Given the description of an element on the screen output the (x, y) to click on. 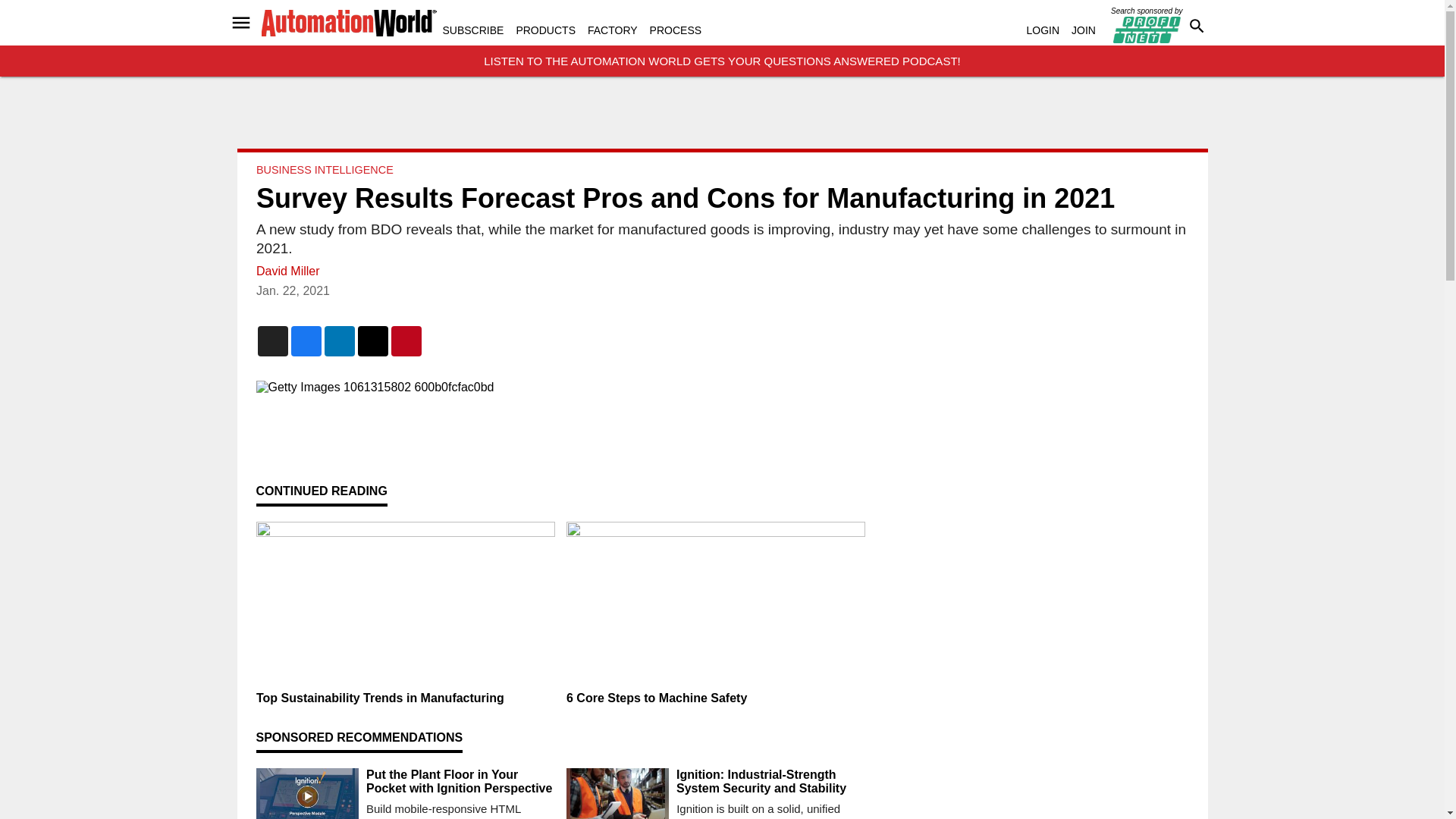
BUSINESS INTELLIGENCE (324, 169)
FACTORY (612, 30)
David Miller (288, 270)
LOGIN (1042, 30)
PROCESS (675, 30)
Top Sustainability Trends in Manufacturing (405, 698)
JOIN (1083, 30)
PRODUCTS (545, 30)
SUBSCRIBE (472, 30)
Getty Images 1061315802 600b0fcfac0bd (560, 386)
